Given the description of an element on the screen output the (x, y) to click on. 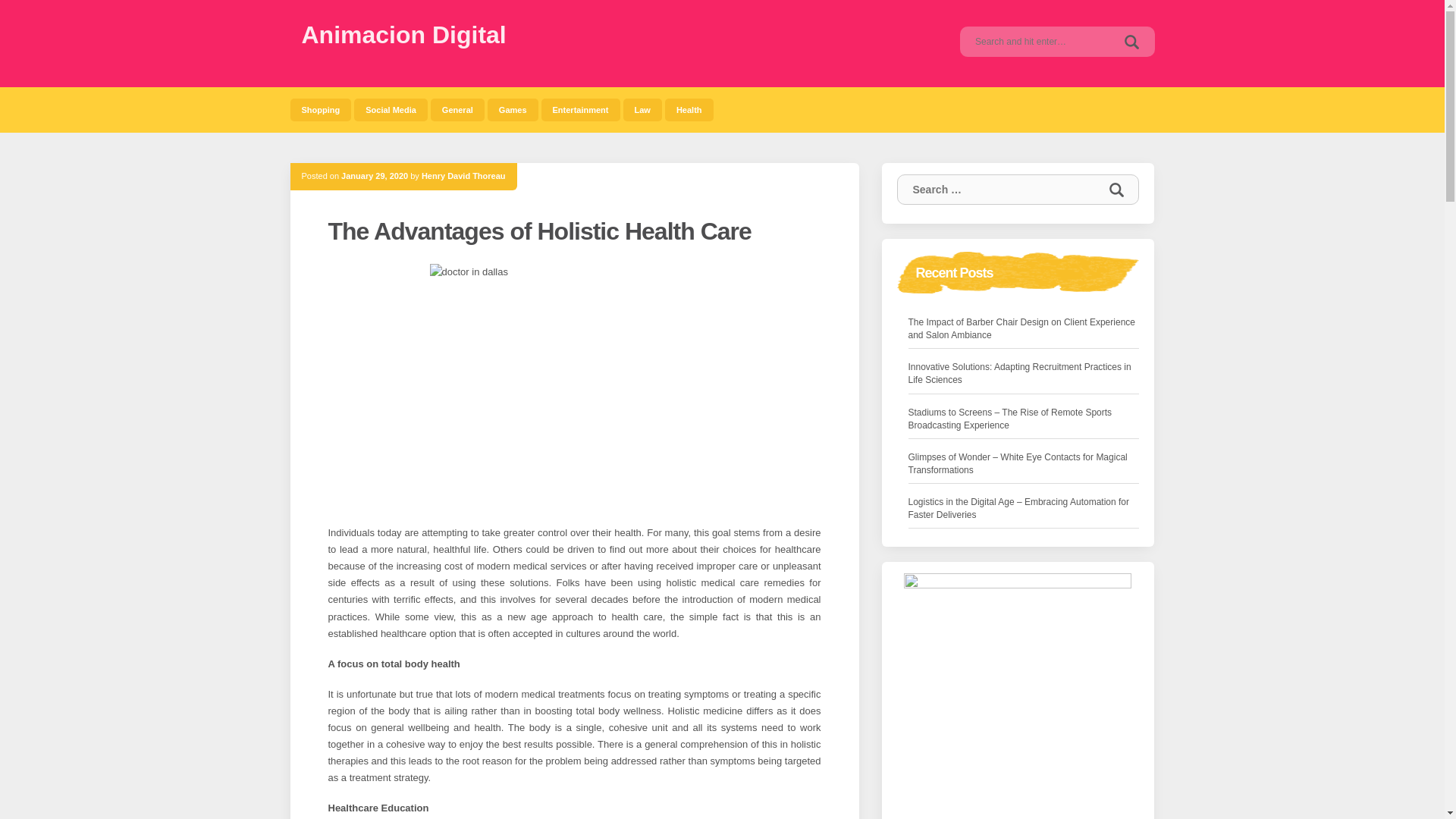
Games (512, 109)
Law (642, 109)
Law (642, 109)
Search (1131, 41)
Entertainment (580, 109)
Games (512, 109)
General (457, 109)
Search (1115, 189)
Health (689, 109)
Search (1131, 41)
Henry David Thoreau (463, 175)
Entertainment (580, 109)
Social Media (390, 109)
